Given the description of an element on the screen output the (x, y) to click on. 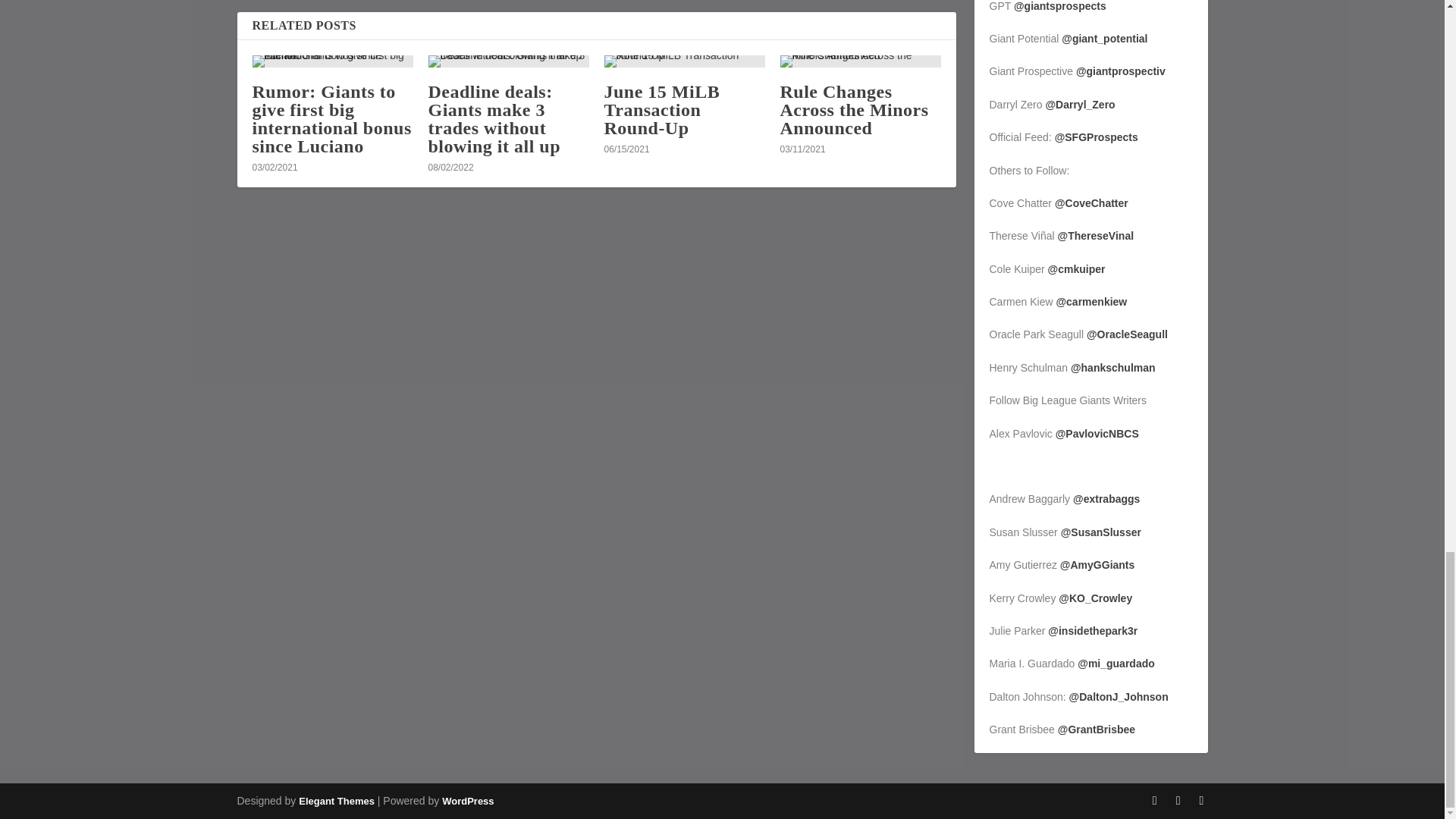
Rule Changes Across the Minors Announced (853, 109)
June 15 MiLB Transaction Round-Up (684, 61)
June 15 MiLB Transaction Round-Up (661, 109)
Rule Changes Across the Minors Announced (859, 61)
